Given the description of an element on the screen output the (x, y) to click on. 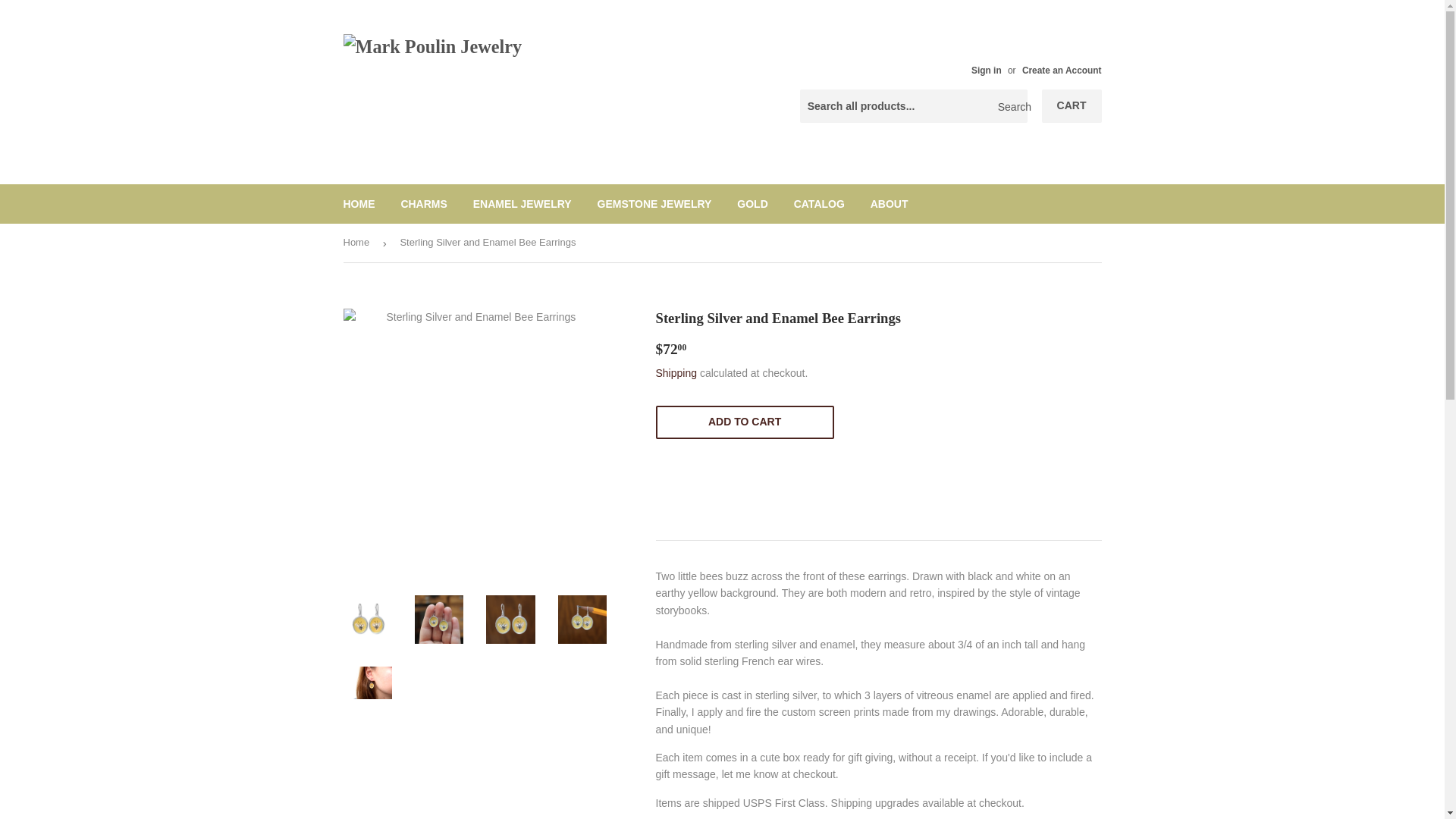
CART (1072, 105)
Create an Account (1062, 70)
Back to the frontpage (358, 242)
Sign in (986, 70)
Search (1009, 106)
